Given the description of an element on the screen output the (x, y) to click on. 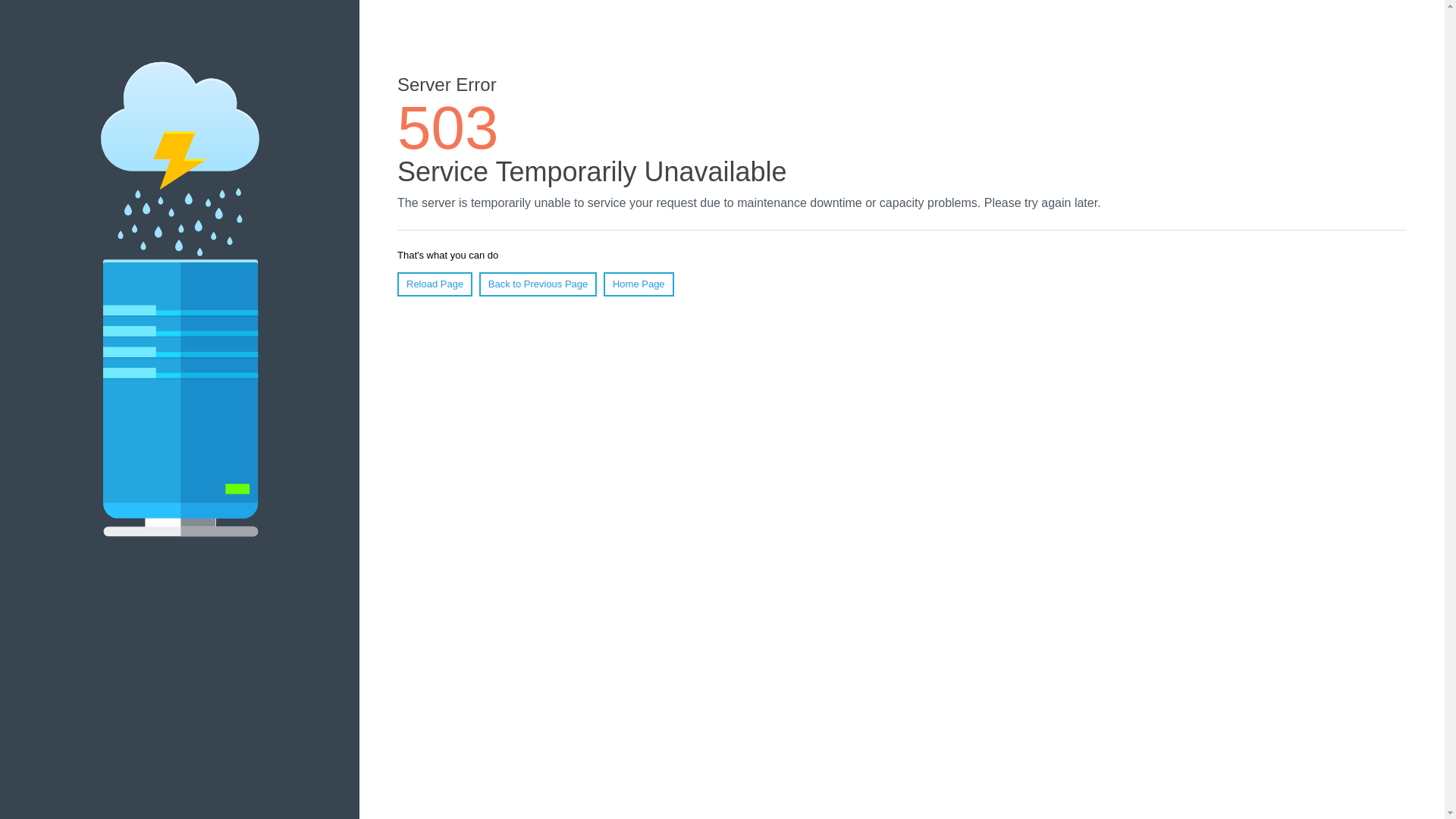
Back to Previous Page (537, 283)
Reload Page (434, 283)
Home Page (639, 283)
